Given the description of an element on the screen output the (x, y) to click on. 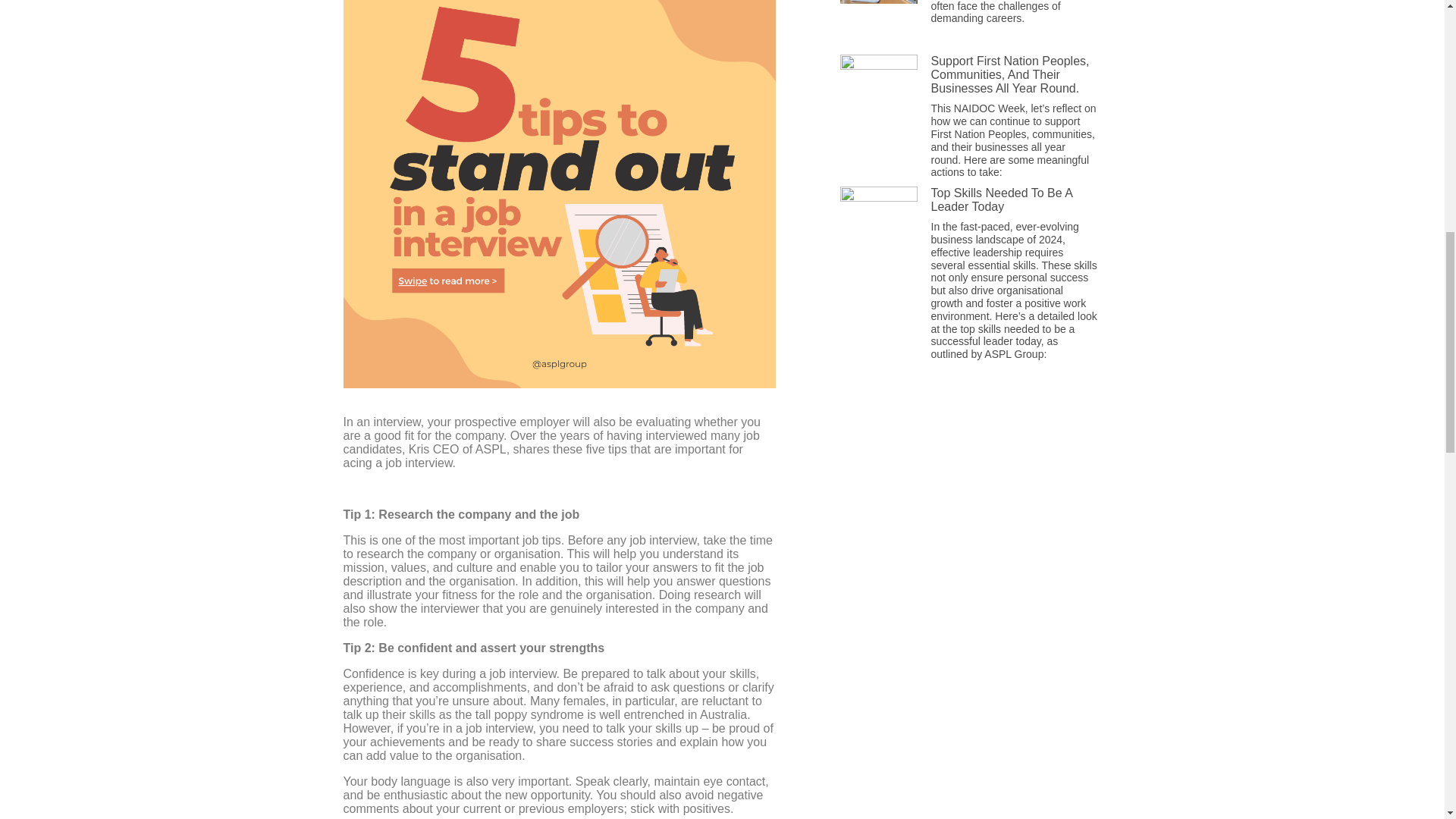
Top Skills Needed To Be A Leader Today (1002, 199)
